Given the description of an element on the screen output the (x, y) to click on. 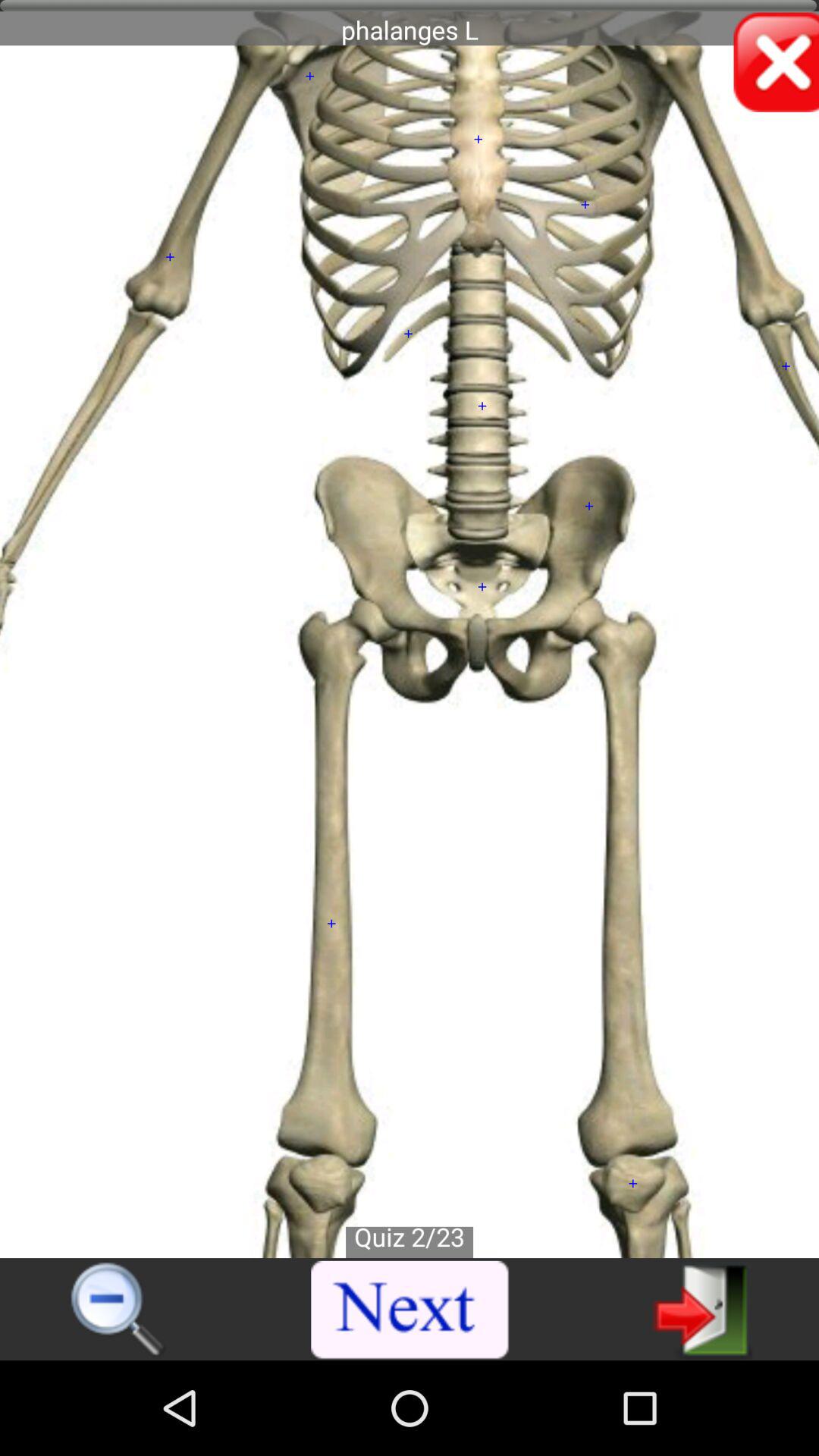
go to next (410, 1310)
